Given the description of an element on the screen output the (x, y) to click on. 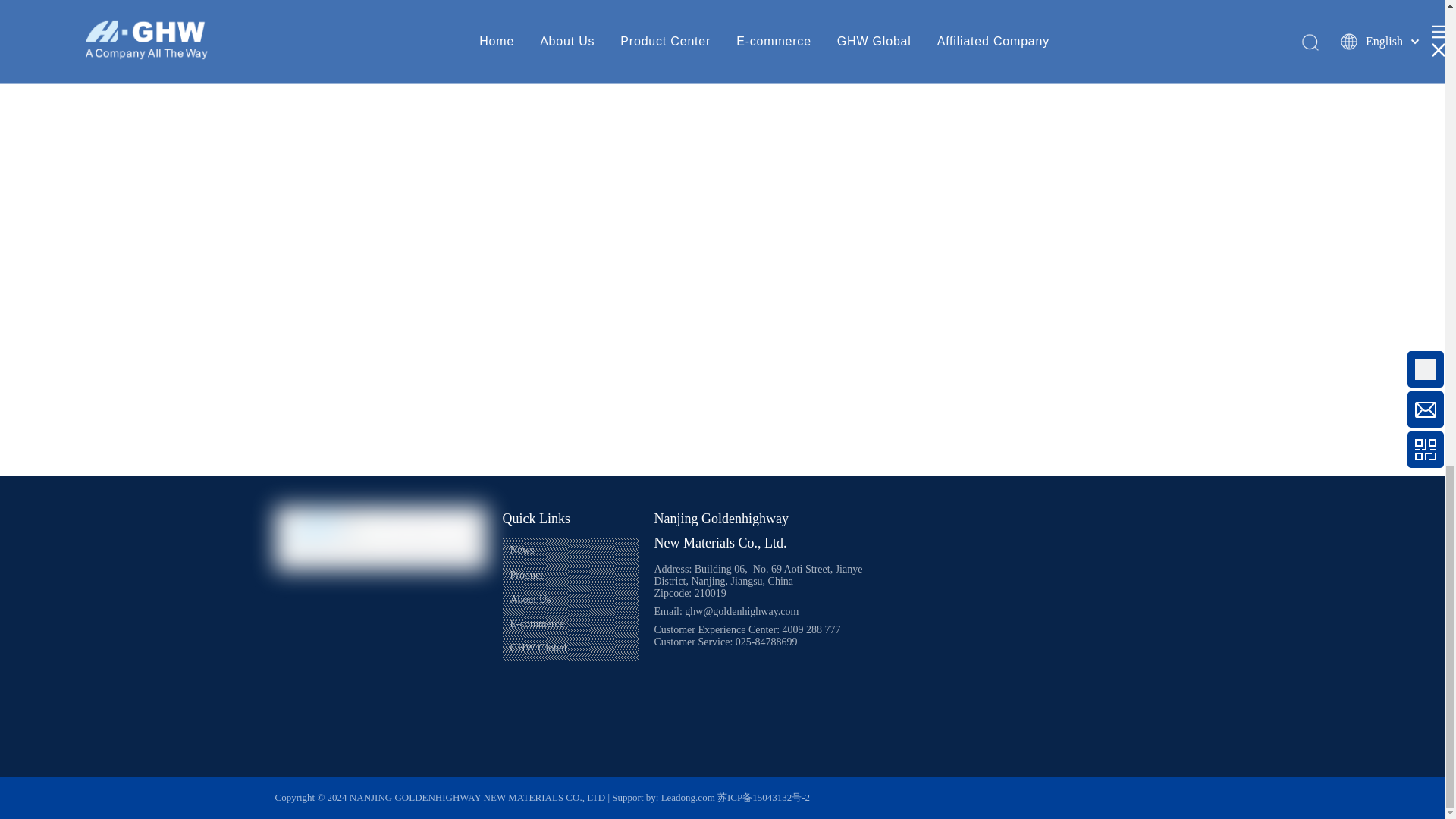
Facebook (292, 587)
Product (526, 574)
GHW Global (537, 647)
About Us (529, 599)
Product (526, 574)
News (521, 550)
E-commerce (536, 623)
News (521, 550)
About Us (529, 599)
